Given the description of an element on the screen output the (x, y) to click on. 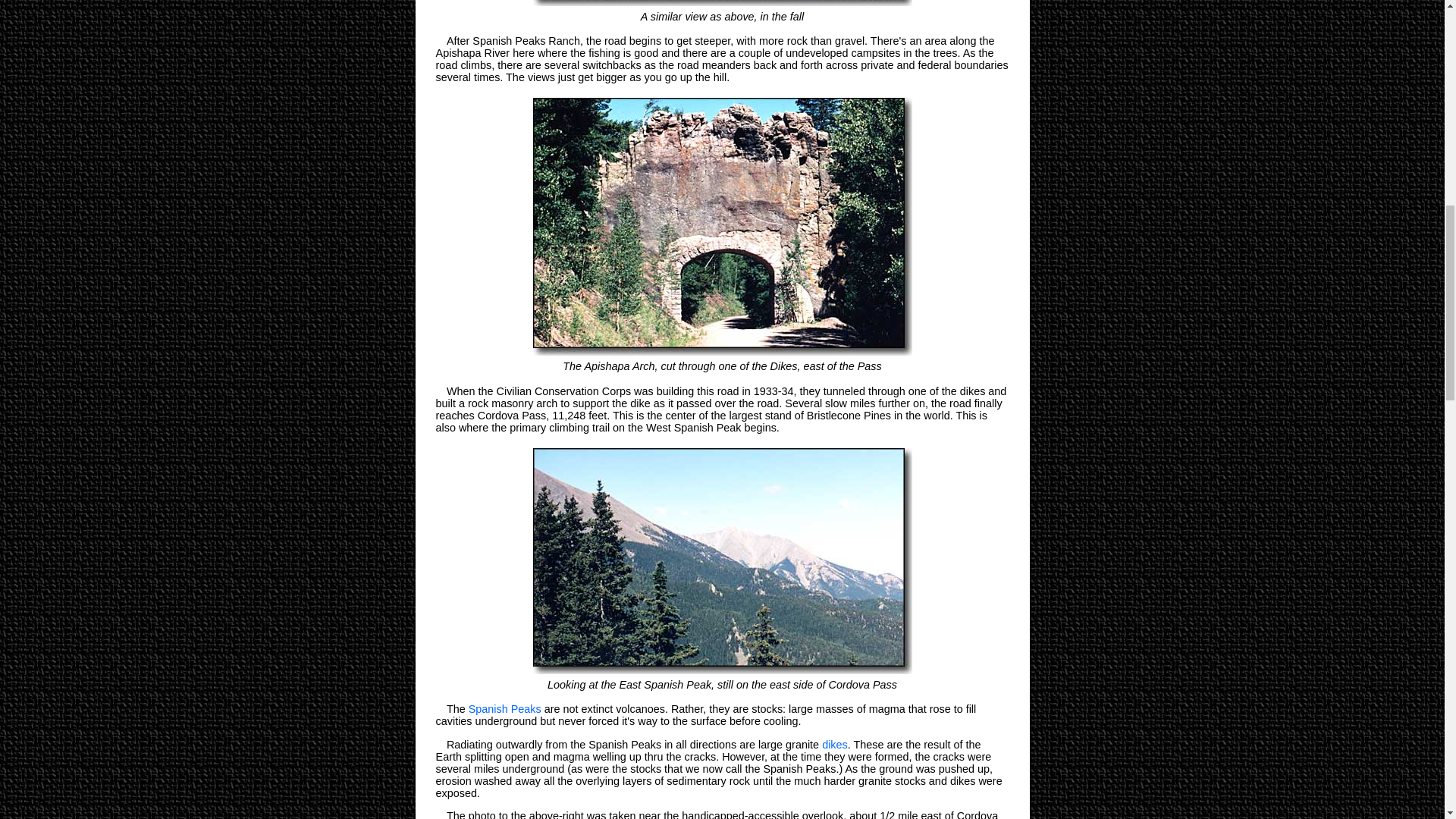
Spanish Peaks (504, 708)
Great Dikes (834, 744)
Apishapa Arch (722, 227)
dikes (834, 744)
Fall colors (722, 4)
Spanish Peaks (504, 708)
Spanish Peaks (722, 560)
